Given the description of an element on the screen output the (x, y) to click on. 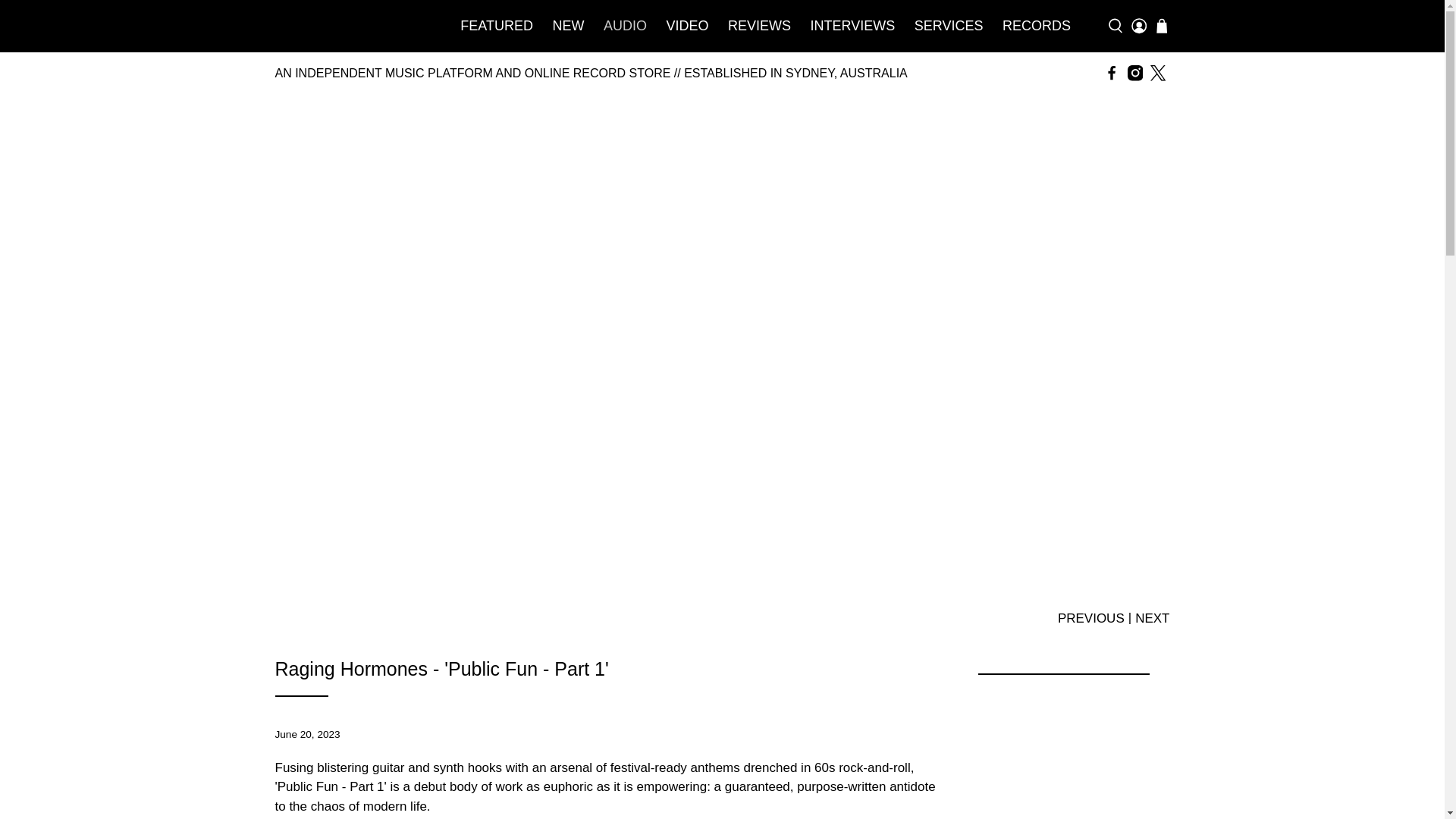
NEW (568, 26)
BROKEN 8 RECORDS on Instagram (1134, 72)
FEATURED (497, 26)
REVIEWS (758, 26)
INTERVIEWS (852, 26)
Previous (1091, 617)
SERVICES (948, 26)
AUDIO (625, 26)
NEXT (1152, 617)
BROKEN 8 RECORDS on Facebook (1111, 72)
PREVIOUS (1091, 617)
VIDEO (687, 26)
BROKEN 8 RECORDS (349, 26)
RECORDS (1036, 26)
Next (1152, 617)
